Given the description of an element on the screen output the (x, y) to click on. 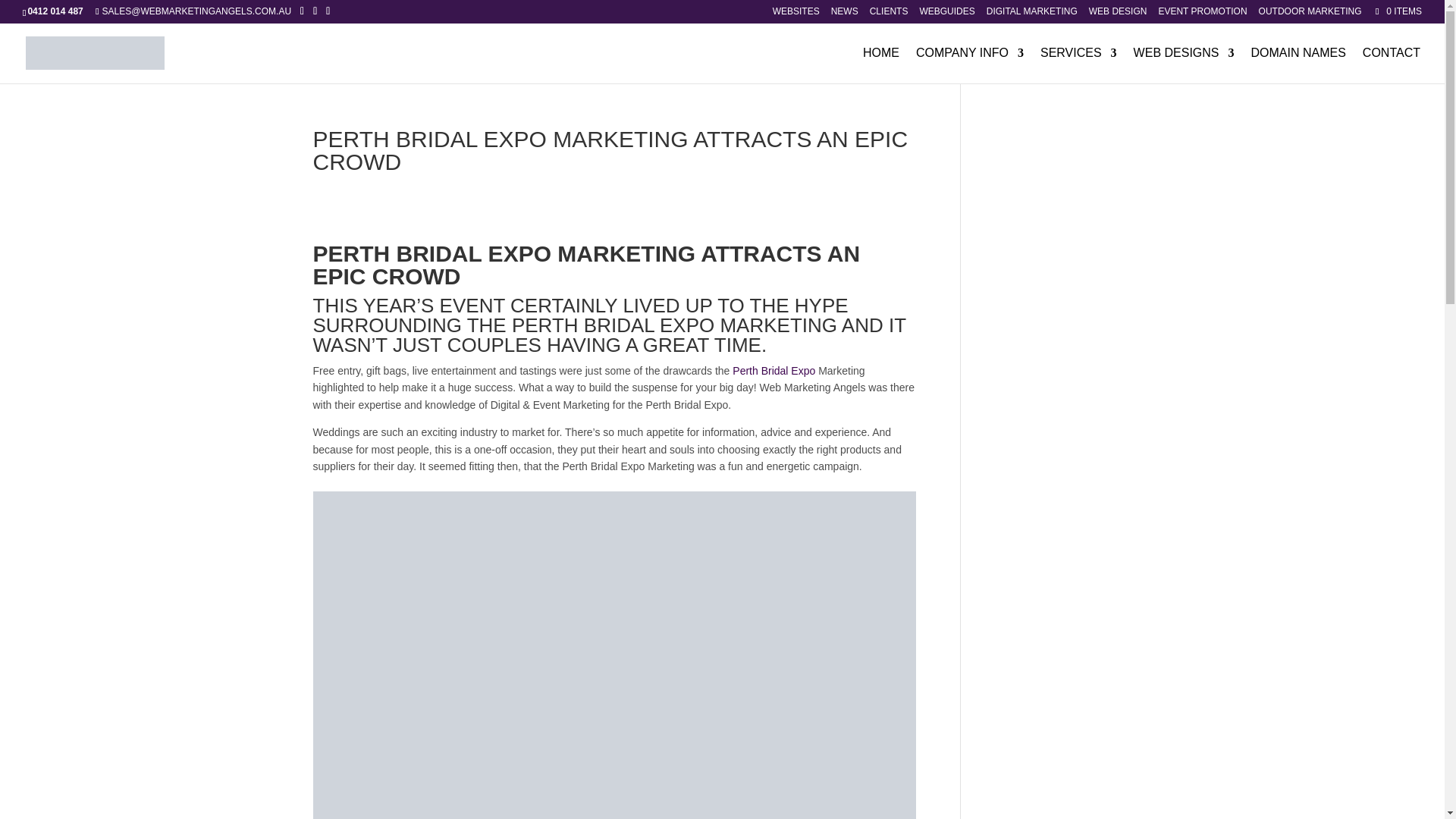
SERVICES (1078, 65)
WEBSITES (796, 14)
WEBGUIDES (946, 14)
OUTDOOR MARKETING (1310, 14)
CLIENTS (888, 14)
HOME (881, 65)
0 ITEMS (1397, 10)
WEB DESIGN (1118, 14)
COMPANY INFO (969, 65)
EVENT PROMOTION (1201, 14)
NEWS (845, 14)
DIGITAL MARKETING (1032, 14)
